Given the description of an element on the screen output the (x, y) to click on. 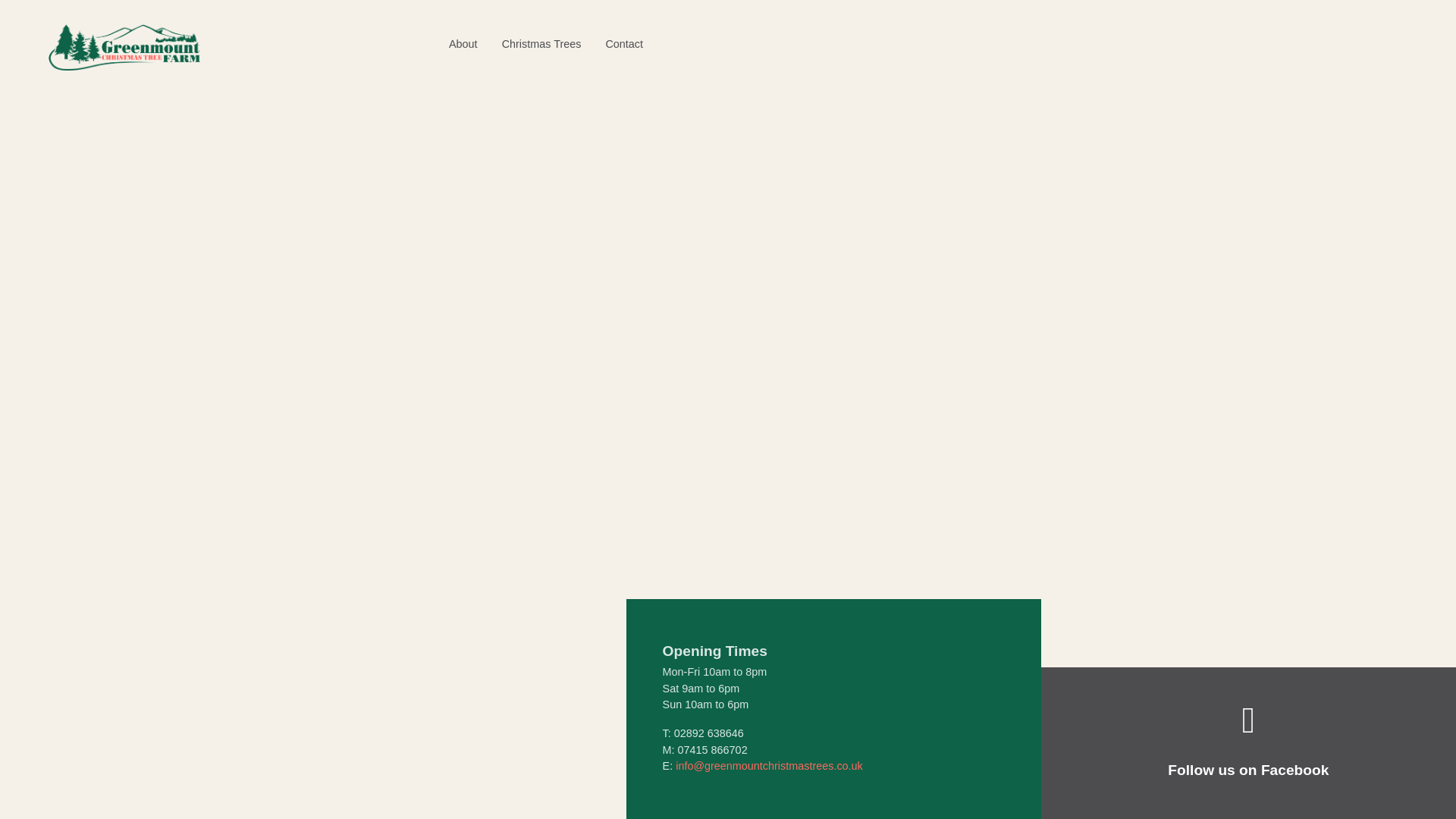
Contact (624, 44)
About (462, 44)
Christmas Trees (541, 44)
